Given the description of an element on the screen output the (x, y) to click on. 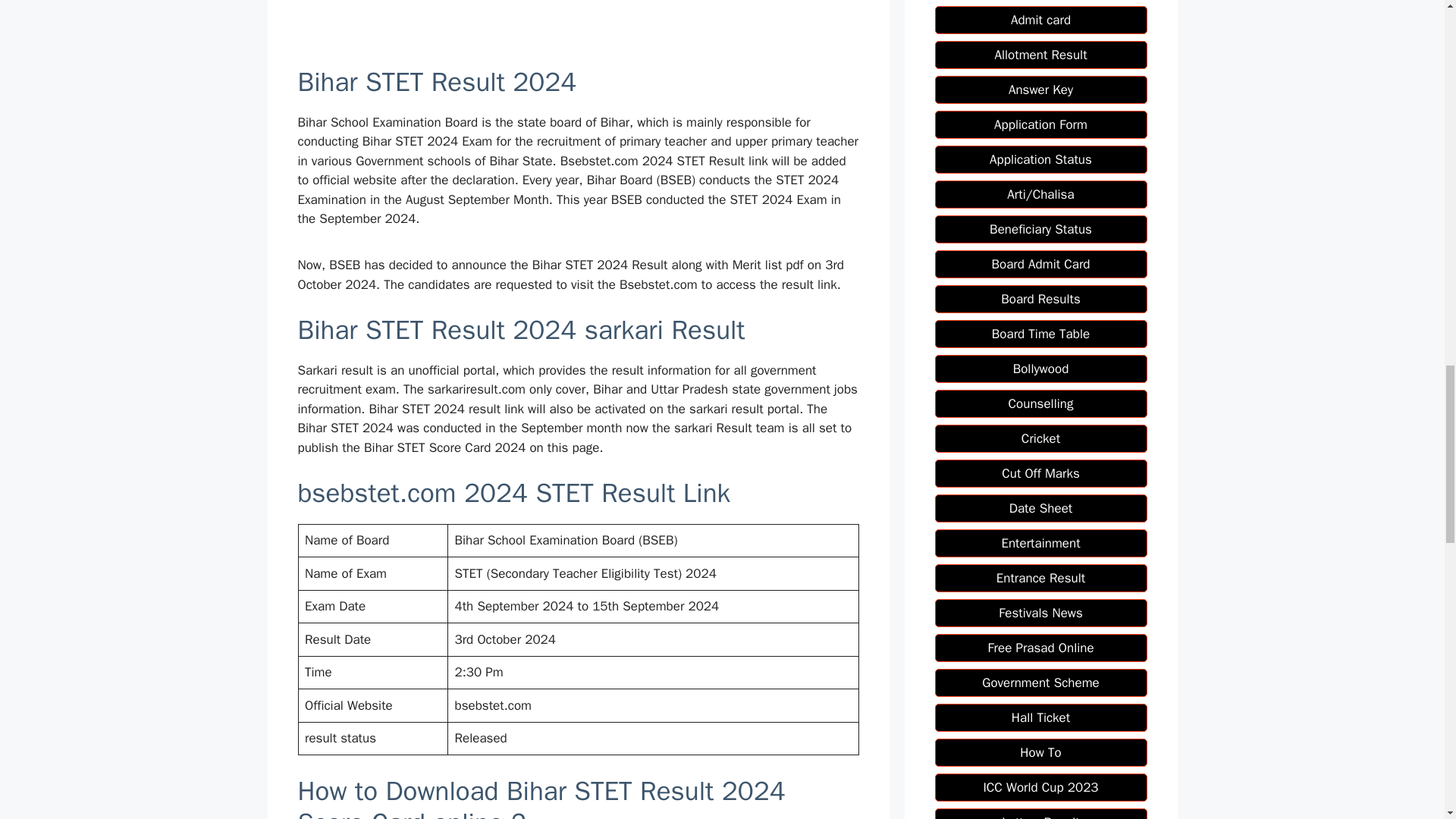
Board Admit Card (1040, 264)
Beneficiary Status (1040, 228)
Admit card (1040, 19)
Application Form (1040, 124)
Allotment Result (1040, 54)
Answer Key (1040, 89)
Board Results (1040, 299)
Board Time Table (1040, 333)
Application Status (1040, 159)
